Given the description of an element on the screen output the (x, y) to click on. 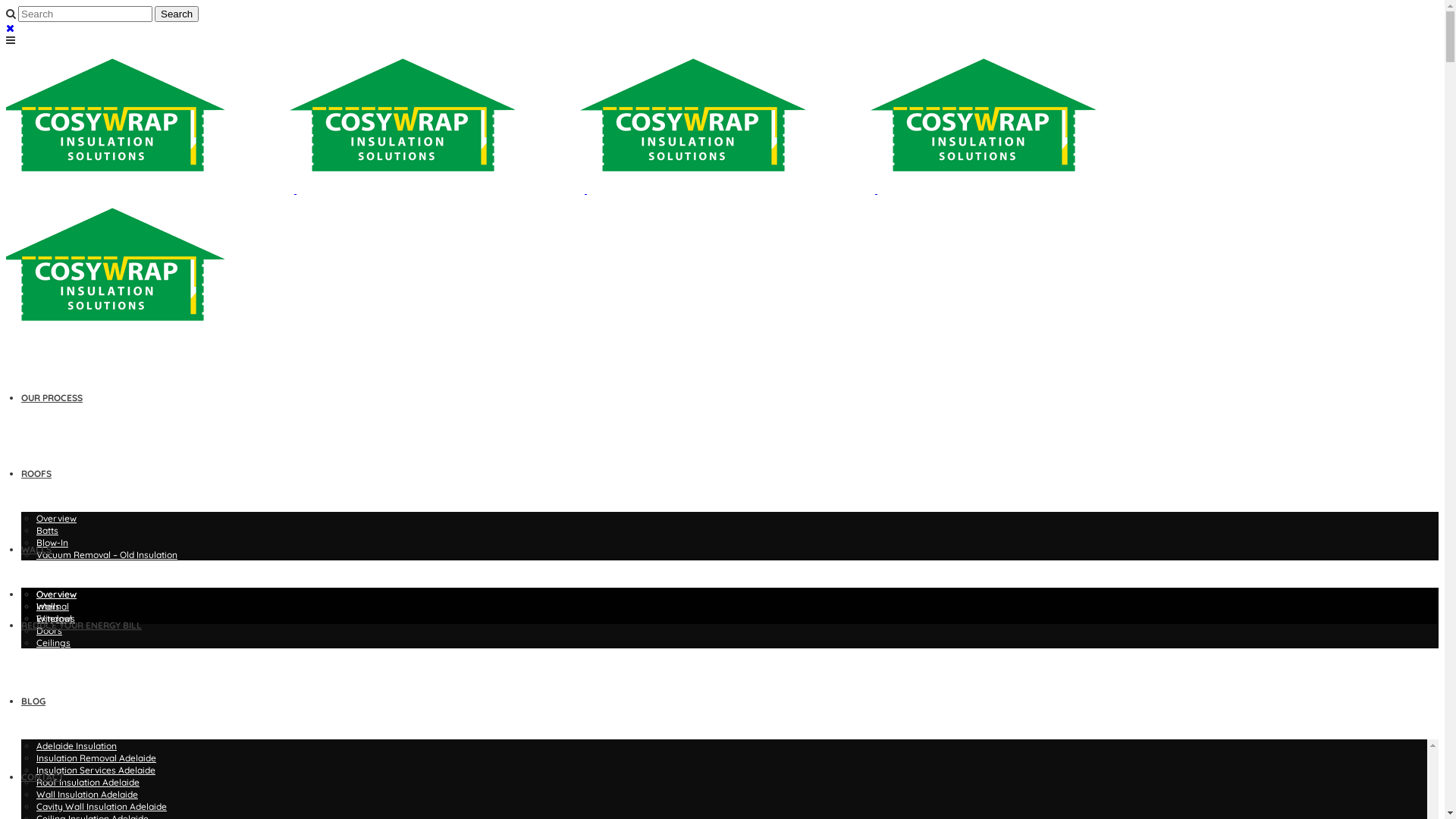
ROOFS Element type: text (36, 473)
OUR PROCESS Element type: text (51, 397)
Overview Element type: text (56, 593)
Roof Insulation Adelaide Element type: text (87, 781)
REDUCE YOUR ENERGY BILL Element type: text (81, 624)
Insulation Removal Adelaide Element type: text (96, 757)
WALLS Element type: text (36, 549)
Walls Element type: text (47, 605)
Batts Element type: text (47, 530)
Ceilings Element type: text (53, 642)
Doors Element type: text (49, 630)
Internal Element type: text (52, 605)
BLOG Element type: text (33, 700)
Windows Element type: text (55, 618)
Cavity Wall Insulation Adelaide Element type: text (101, 806)
HOME Element type: text (34, 245)
ABOUT US Element type: text (43, 321)
Insulation Services Adelaide Element type: text (95, 769)
Overview Element type: text (56, 518)
CONTACT Element type: text (42, 776)
Search Element type: text (176, 13)
Adelaide Insulation Element type: text (76, 745)
External Element type: text (54, 618)
Wall Insulation Adelaide Element type: text (87, 794)
Blow-In Element type: text (52, 542)
